Given the description of an element on the screen output the (x, y) to click on. 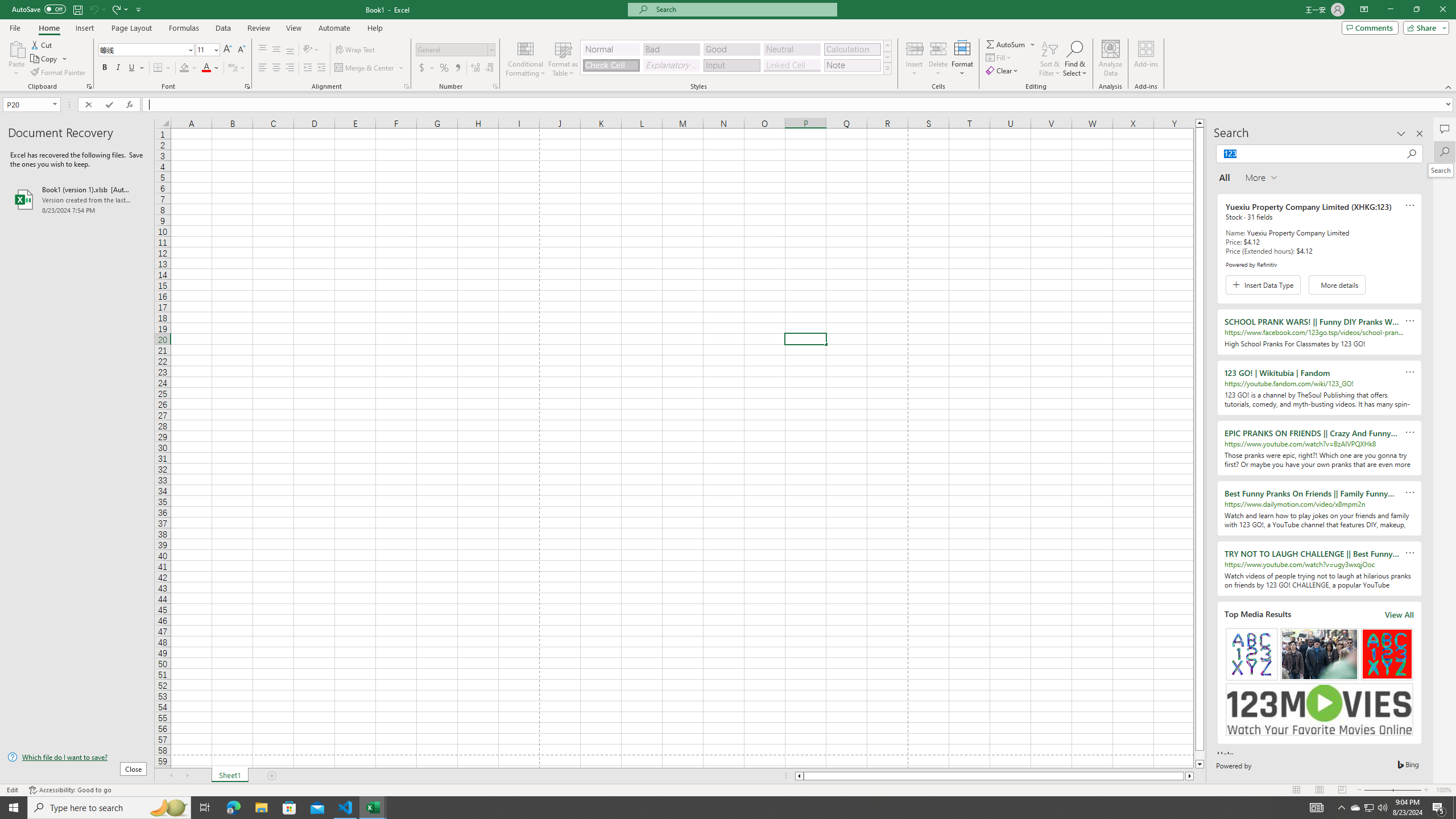
Italic (118, 67)
Decrease Decimal (489, 67)
Middle Align (276, 49)
AutoSum (1011, 44)
Center (276, 67)
Sum (1006, 44)
Font Size (204, 49)
Delete Cells... (938, 48)
